Given the description of an element on the screen output the (x, y) to click on. 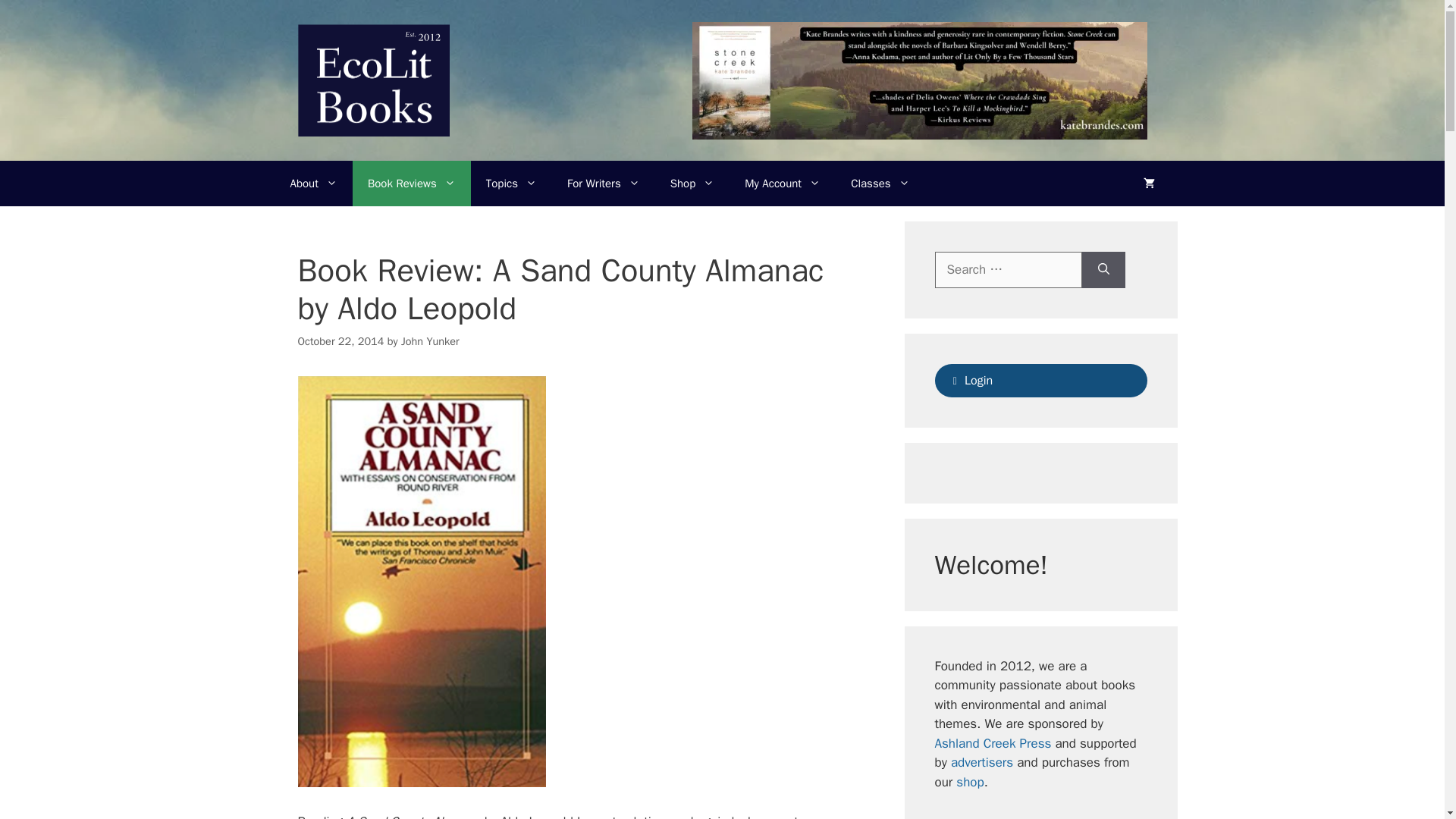
Topics (510, 183)
Search for: (1007, 269)
About (313, 183)
Book Reviews (411, 183)
View your shopping cart (1149, 183)
View all posts by John Yunker (430, 341)
